Given the description of an element on the screen output the (x, y) to click on. 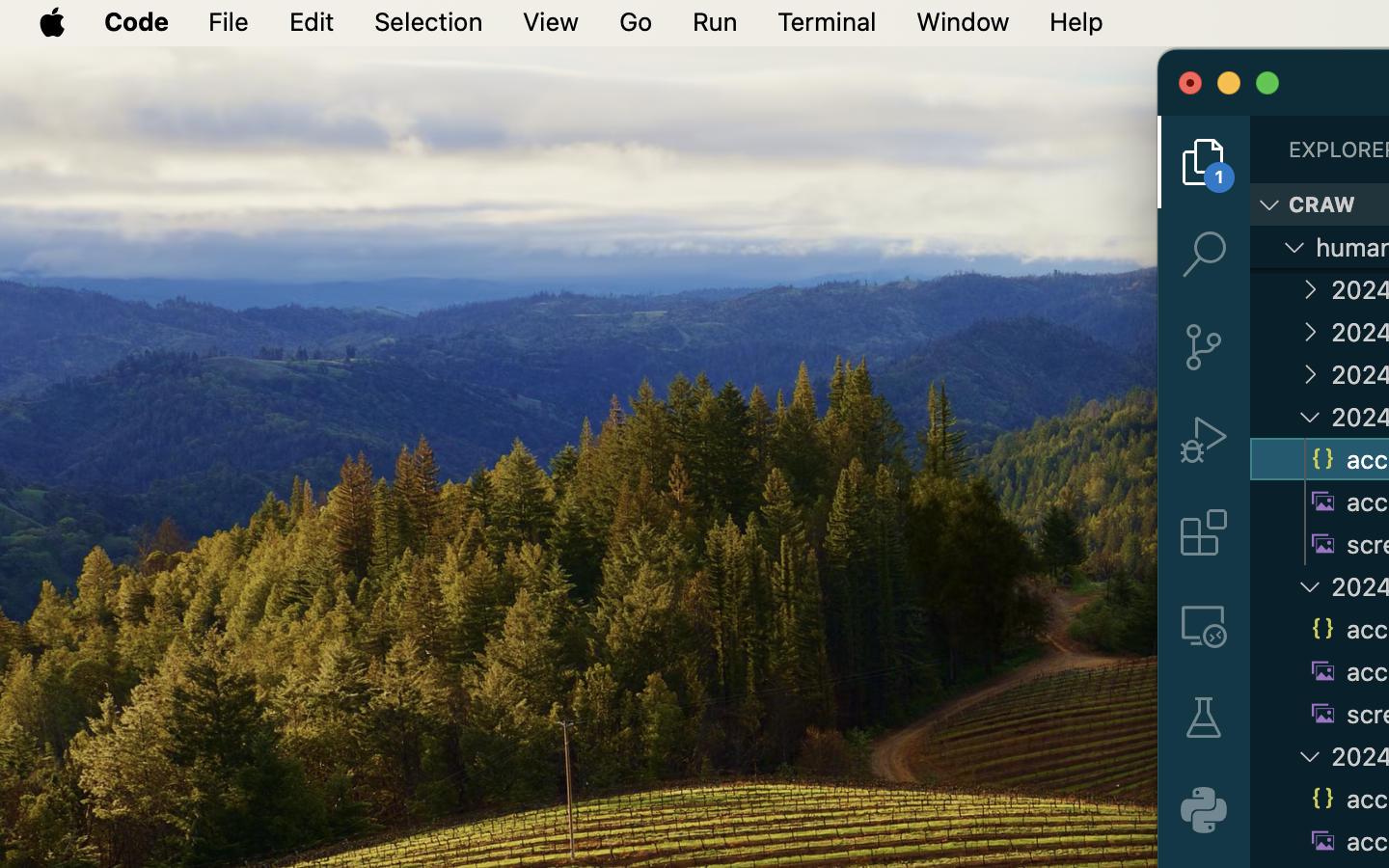
0  Element type: AXRadioButton (1203, 624)
0  Element type: AXRadioButton (1203, 254)
 Element type: AXGroup (1203, 439)
